Given the description of an element on the screen output the (x, y) to click on. 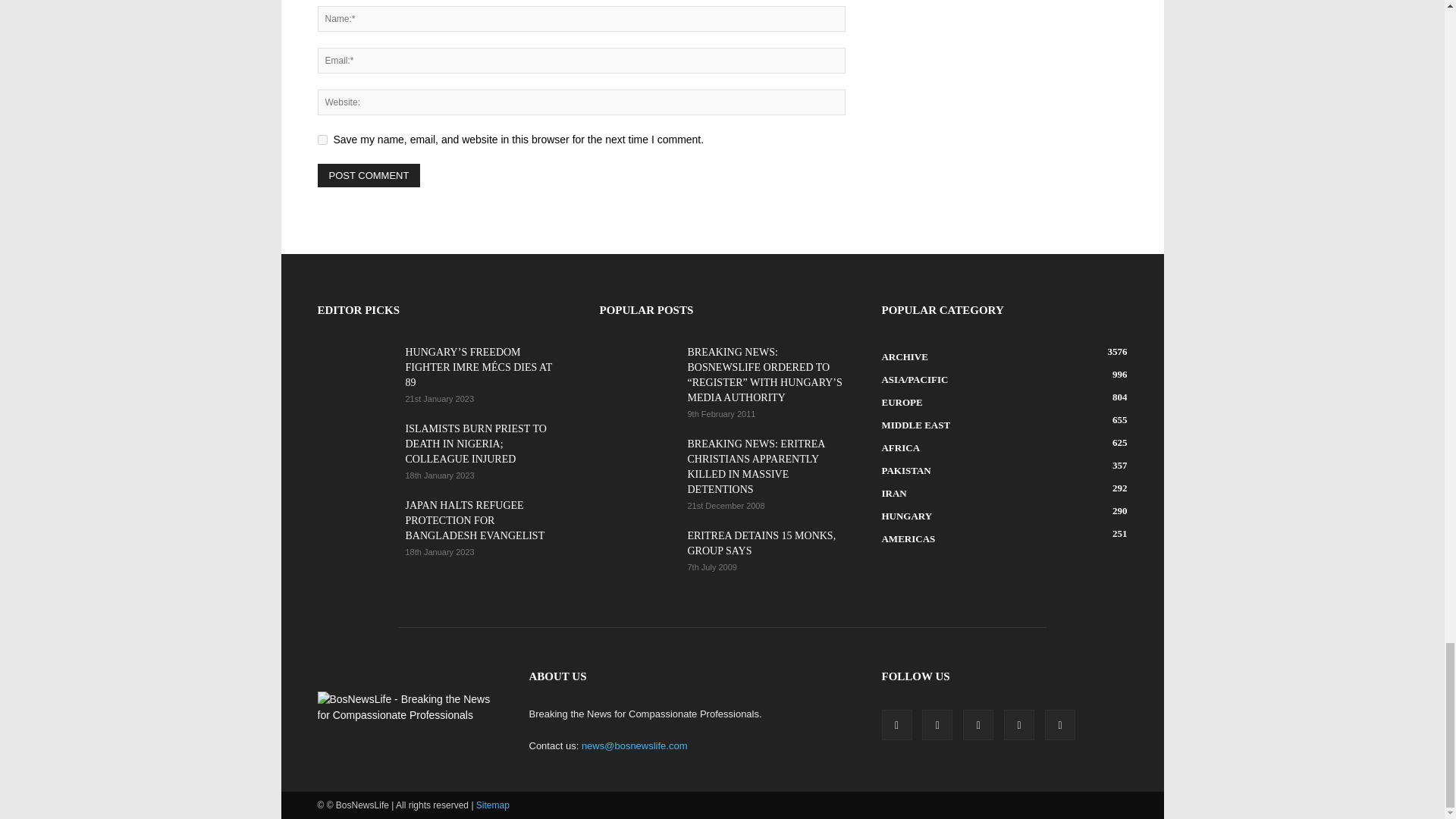
Post Comment (368, 175)
yes (321, 139)
